Given the description of an element on the screen output the (x, y) to click on. 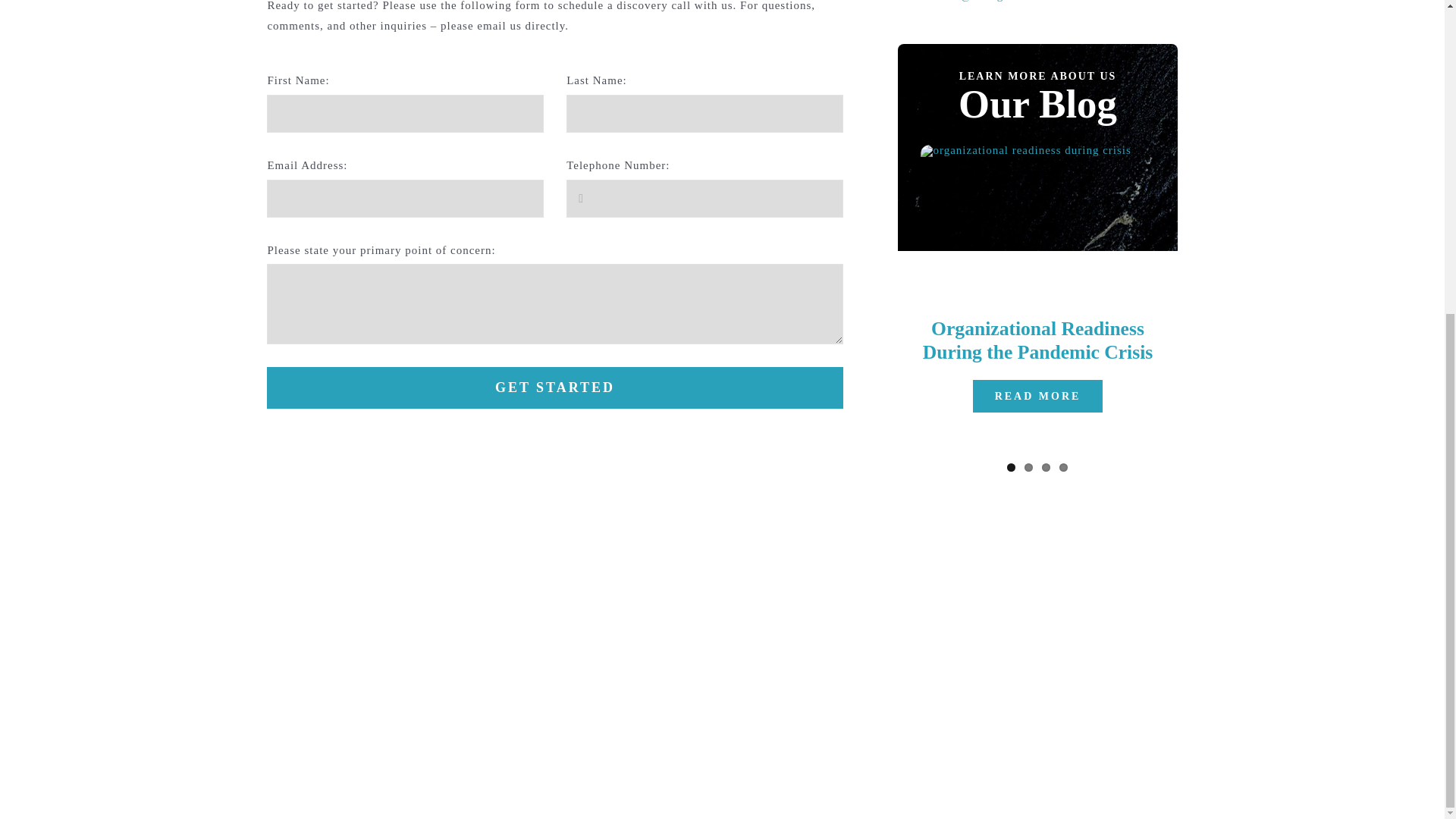
READ MORE (1037, 396)
Organizational Readiness During the Pandemic Crisis (1038, 340)
GET STARTED (554, 387)
Only numbers and phone characters are accepted. (704, 198)
Vestigia Organizational Strategies Business Email Address (997, 0)
